Given the description of an element on the screen output the (x, y) to click on. 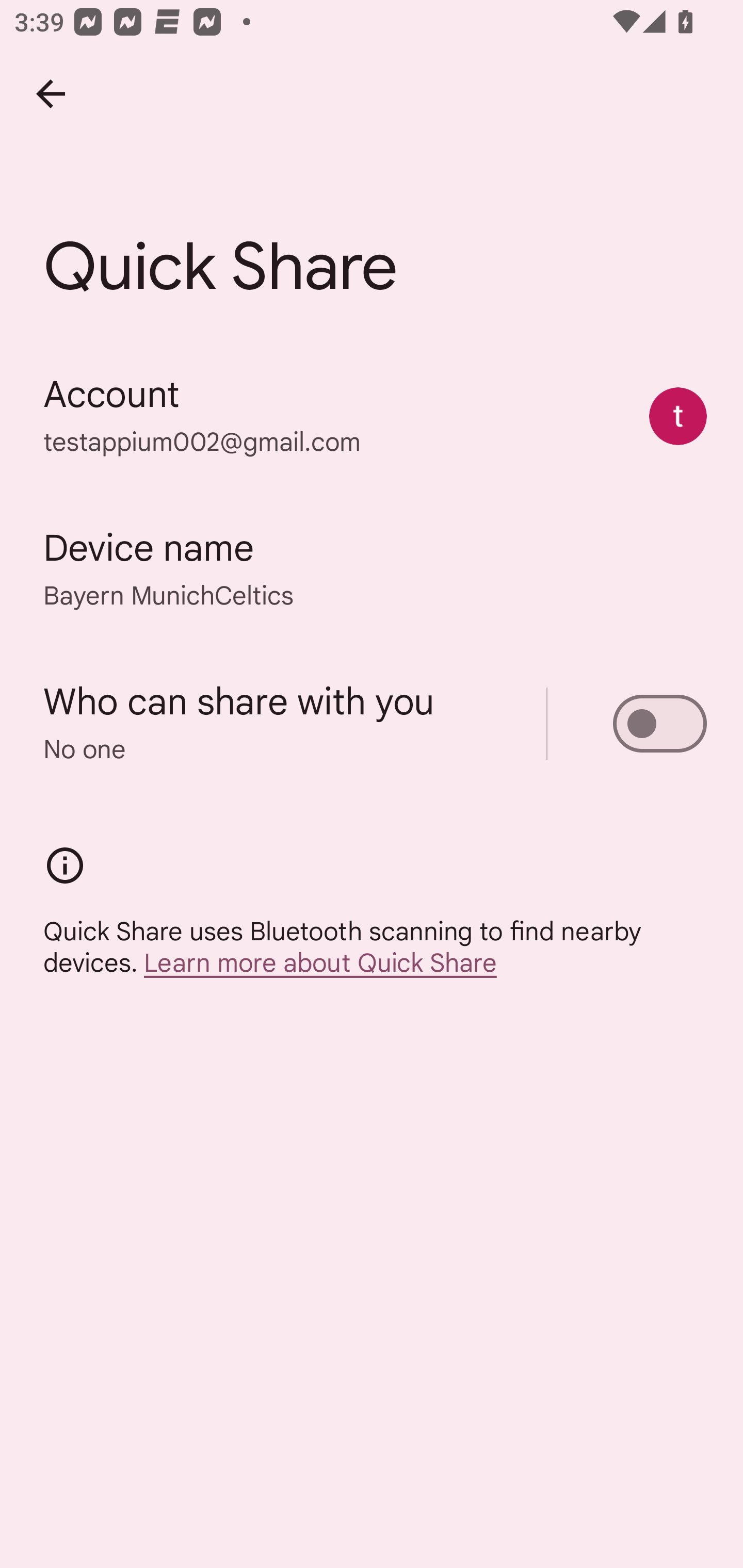
Back (50, 93)
Account testappium002@gmail.com (371, 415)
Device name Bayern MunichCeltics (371, 569)
Who can share with you No one (371, 723)
